Given the description of an element on the screen output the (x, y) to click on. 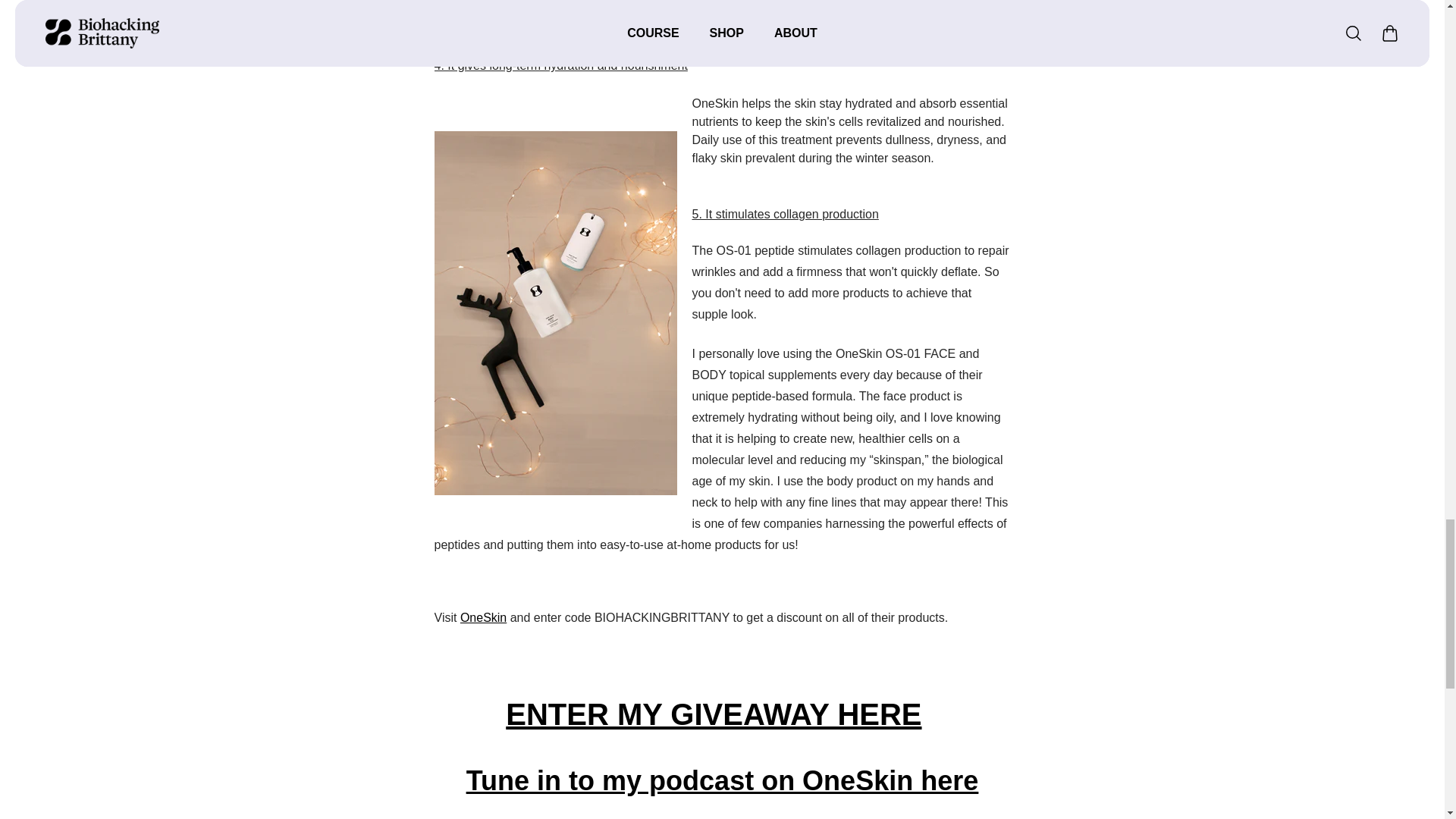
Tune in to my podcast on OneSkin here (721, 780)
ENTER MY GIVEAWAY HERE (713, 714)
oneskin video reel biohacking brittany (713, 714)
OneSkin (483, 617)
oneskin discount code biohacking brittany (721, 780)
